Given the description of an element on the screen output the (x, y) to click on. 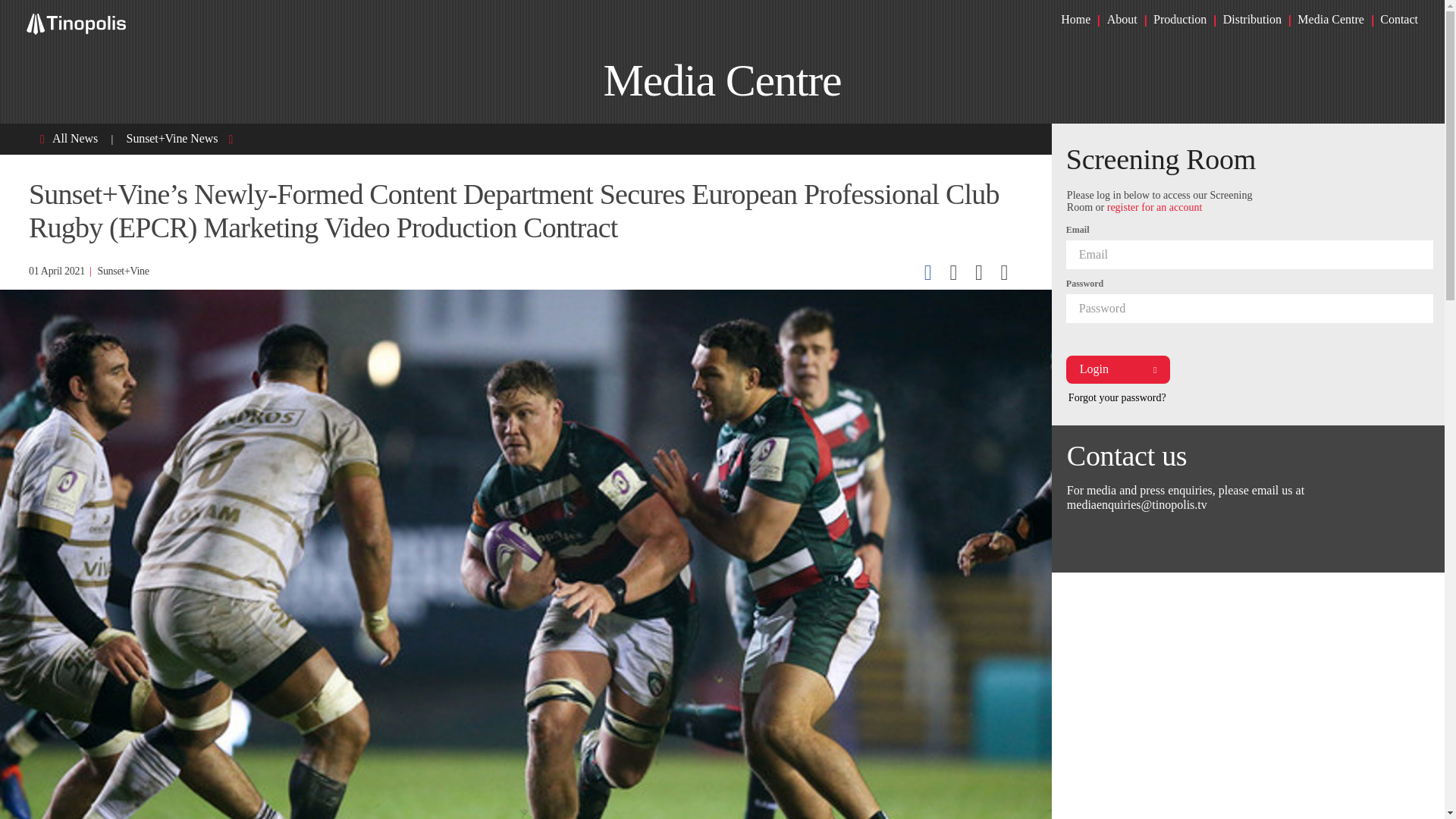
Distribution (1252, 19)
Production (1180, 19)
Media Centre (1330, 19)
Home (1075, 19)
register for an account (1154, 206)
All News (74, 137)
Login (1117, 369)
Contact (1399, 19)
About (1121, 19)
Forgot your password? (1117, 397)
